Given the description of an element on the screen output the (x, y) to click on. 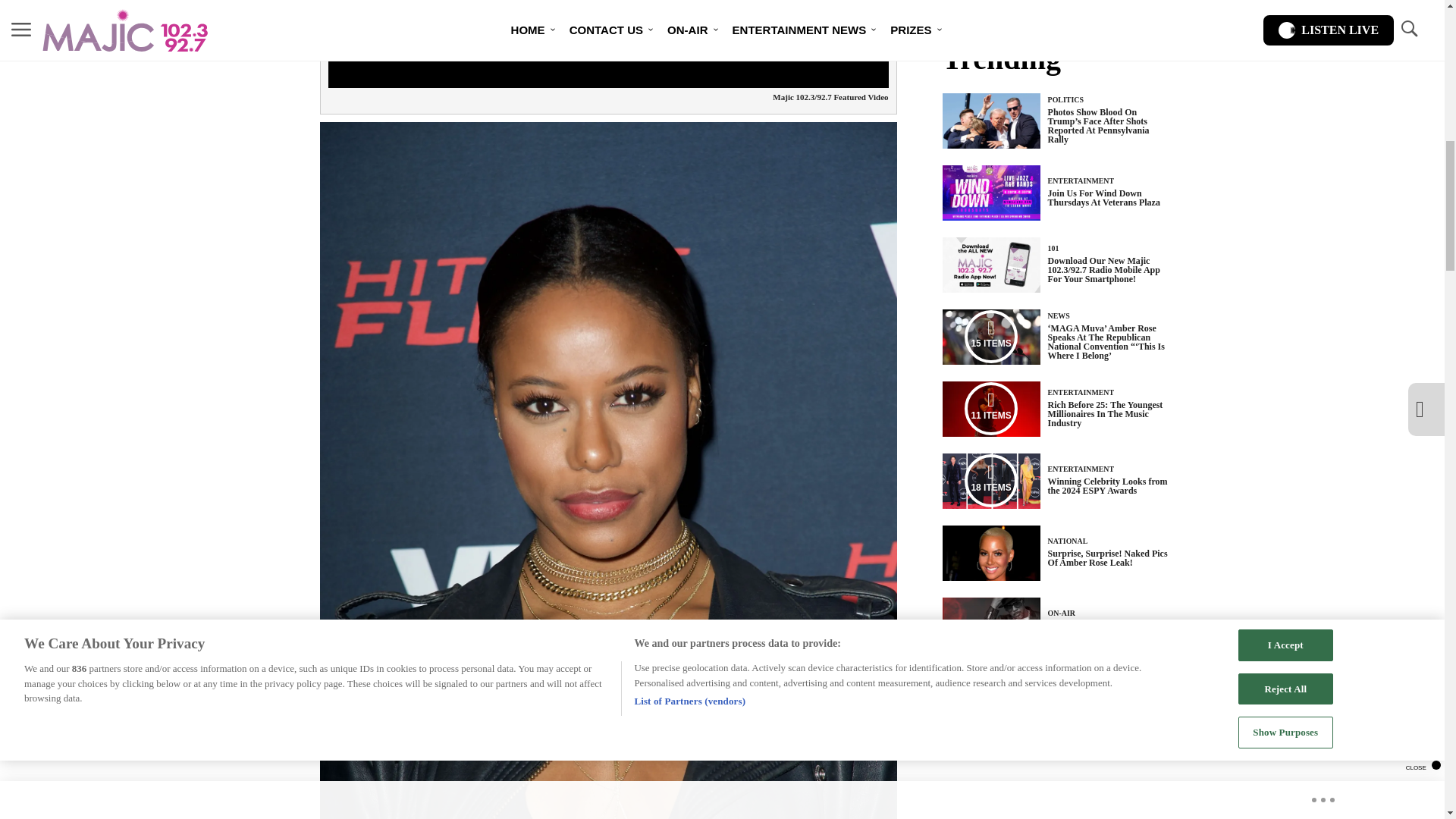
Media Playlist (990, 408)
Media Playlist (990, 480)
Media Playlist (990, 336)
